Given the description of an element on the screen output the (x, y) to click on. 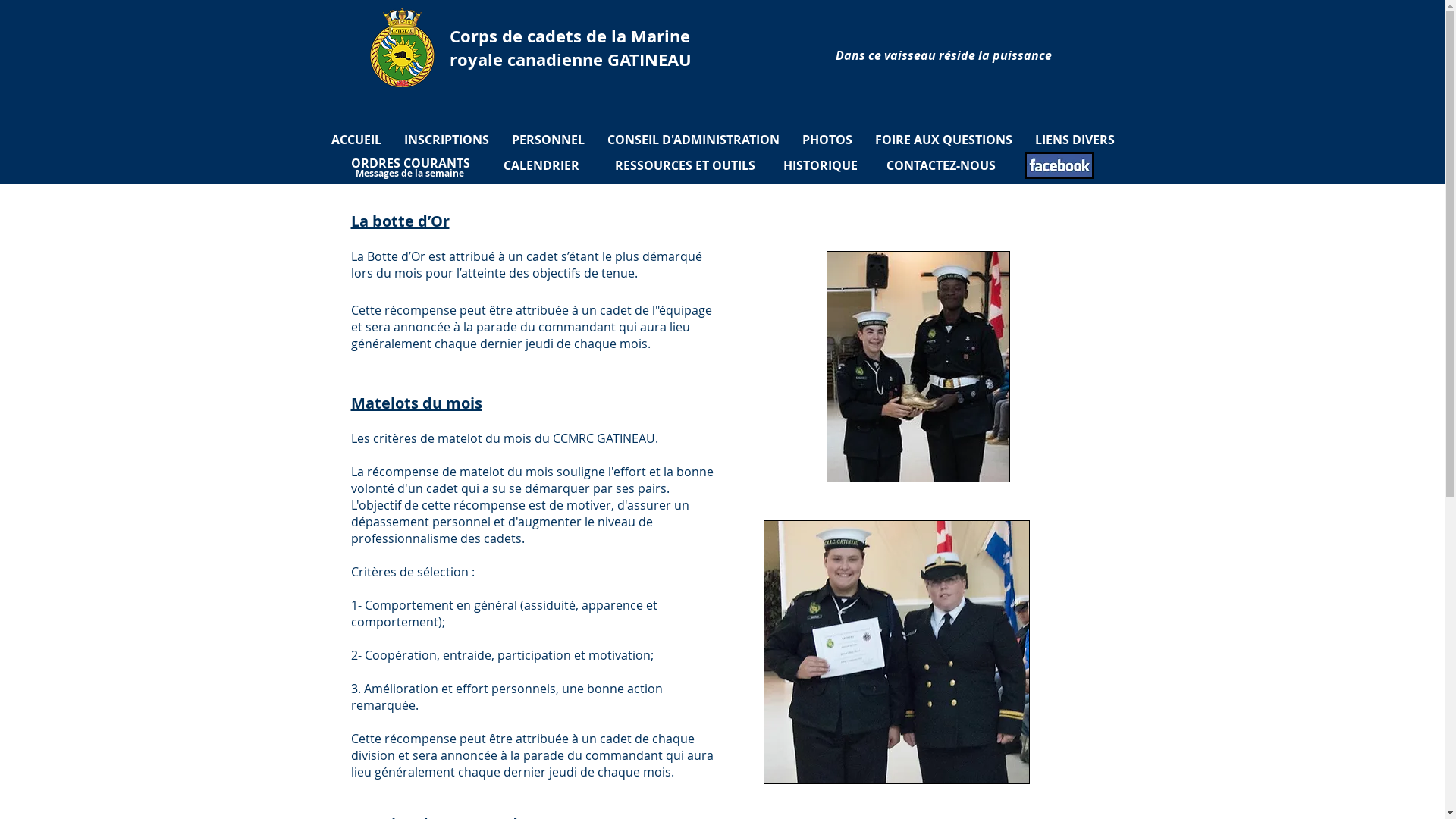
RESSOURCES ET OUTILS Element type: text (684, 165)
HISTORIQUE Element type: text (819, 165)
PHOTOS Element type: text (826, 139)
Messages de la semaine Element type: text (408, 173)
INSCRIPTIONS Element type: text (446, 139)
CALENDRIER Element type: text (541, 165)
LIENS DIVERS Element type: text (1074, 139)
ORDRES COURANTS Element type: text (409, 162)
PERSONNEL Element type: text (548, 139)
ACCUEIL Element type: text (356, 139)
FOIRE AUX QUESTIONS Element type: text (942, 139)
CONTACTEZ-NOUS Element type: text (939, 165)
CONSEIL D'ADMINISTRATION Element type: text (693, 139)
